Given the description of an element on the screen output the (x, y) to click on. 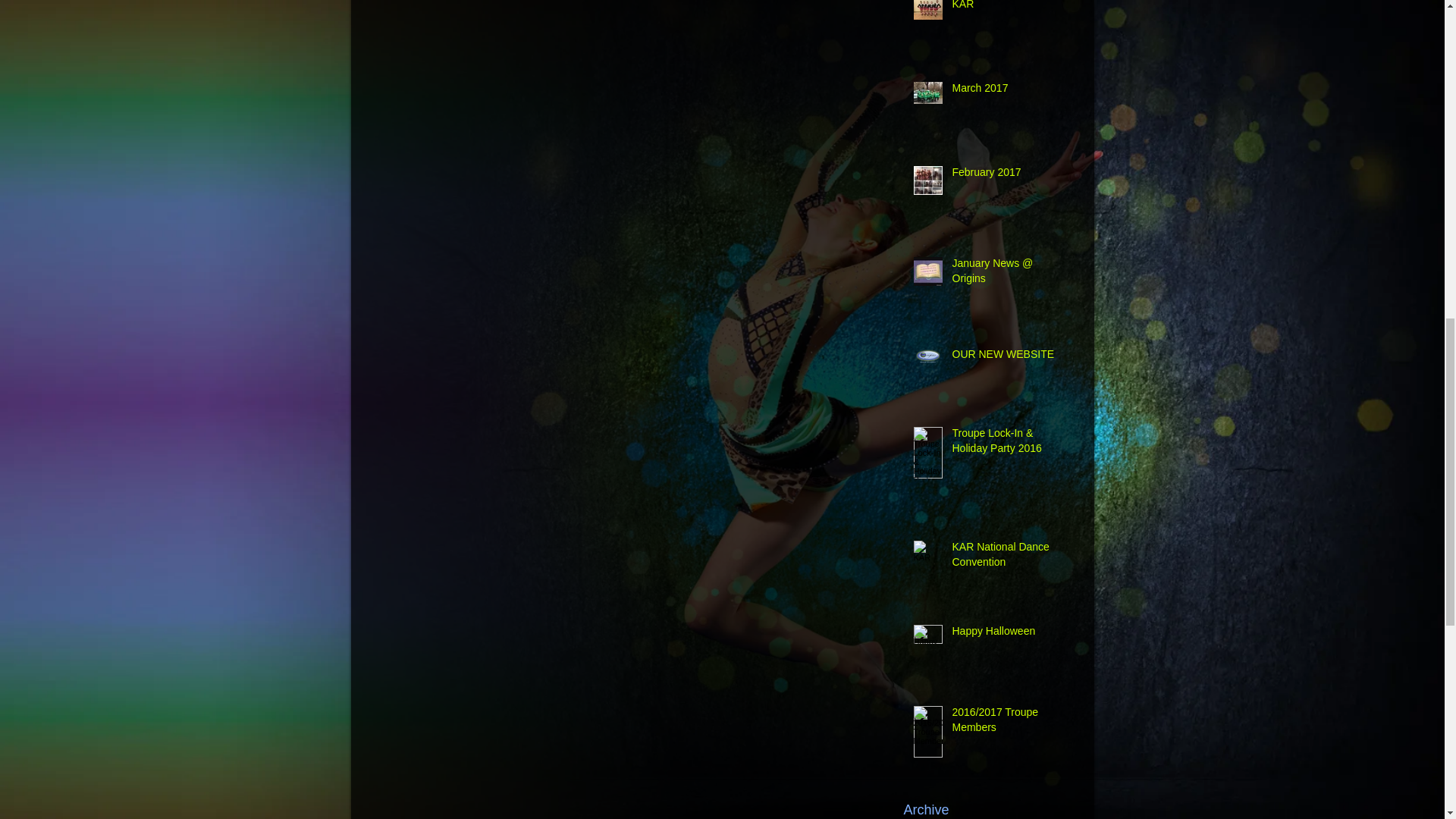
February 2017 (1006, 175)
KAR (1006, 9)
OUR NEW WEBSITE (1006, 357)
March 2017 (1006, 91)
Happy Halloween (1006, 634)
KAR National Dance Convention (1006, 557)
